Given the description of an element on the screen output the (x, y) to click on. 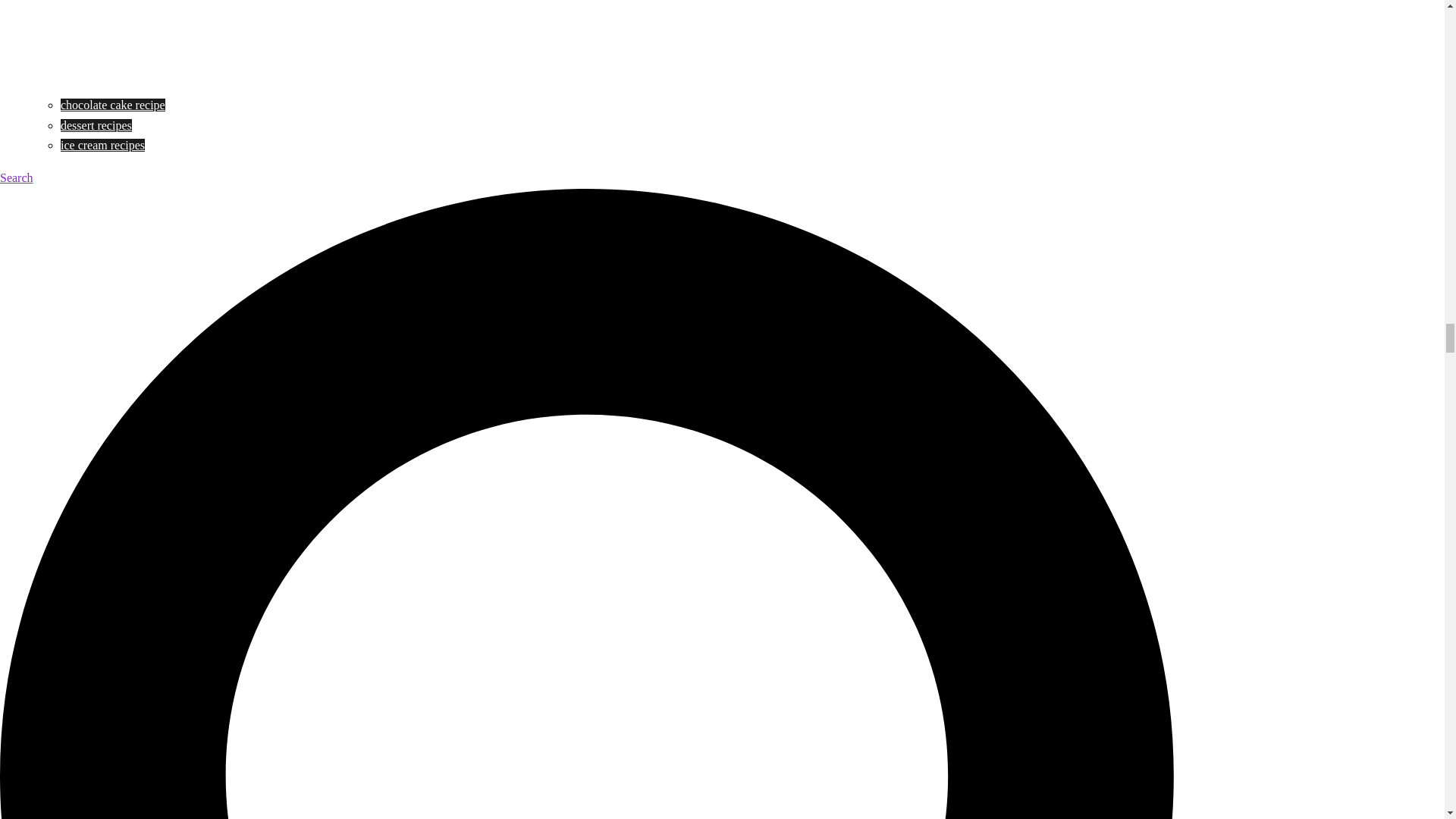
dessert recipes (96, 124)
ice cream recipes (102, 144)
chocolate cake recipe (113, 104)
